Given the description of an element on the screen output the (x, y) to click on. 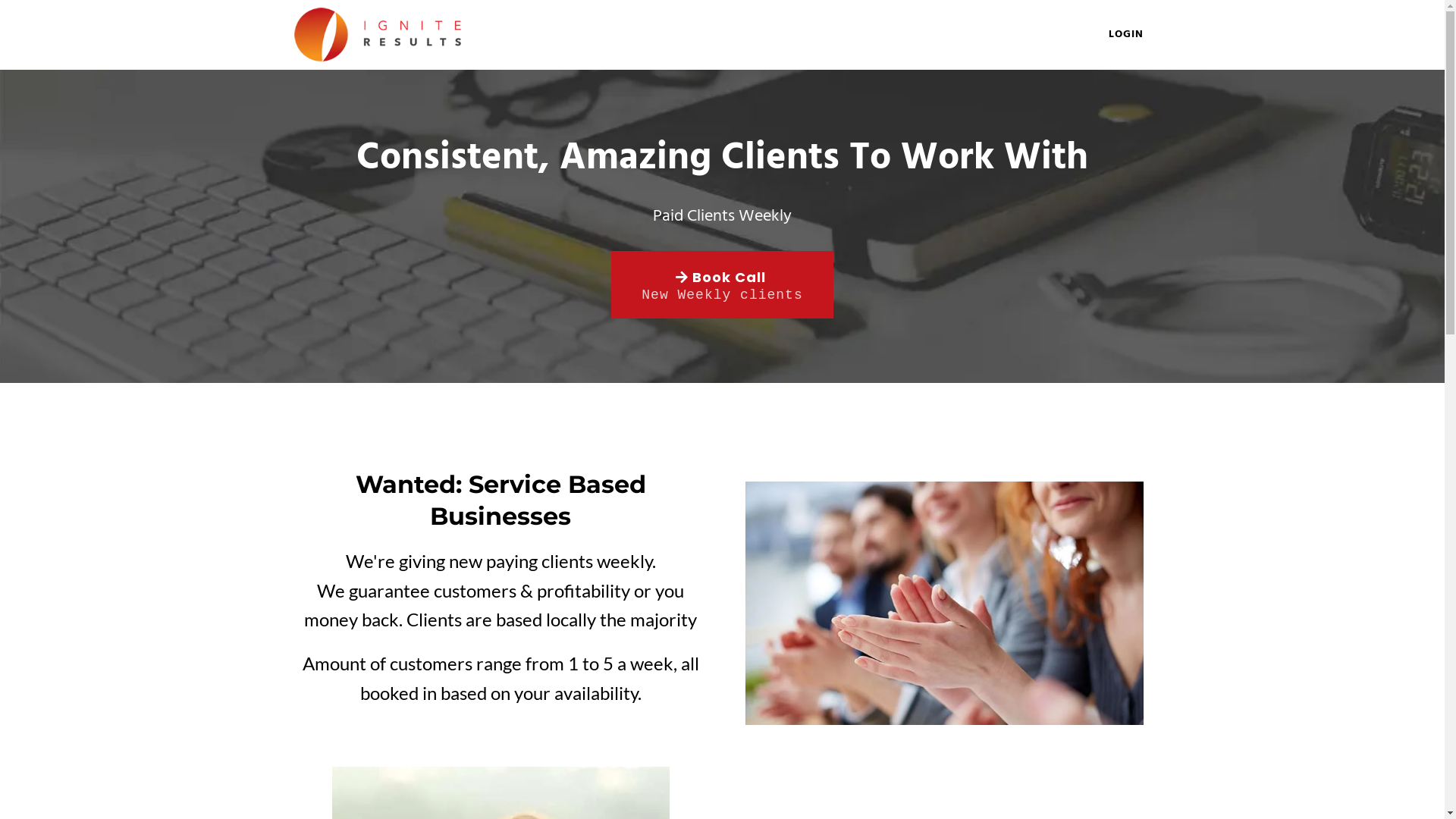
LOGIN Element type: text (1125, 34)
Book Call
New Weekly clients Element type: text (721, 284)
